Given the description of an element on the screen output the (x, y) to click on. 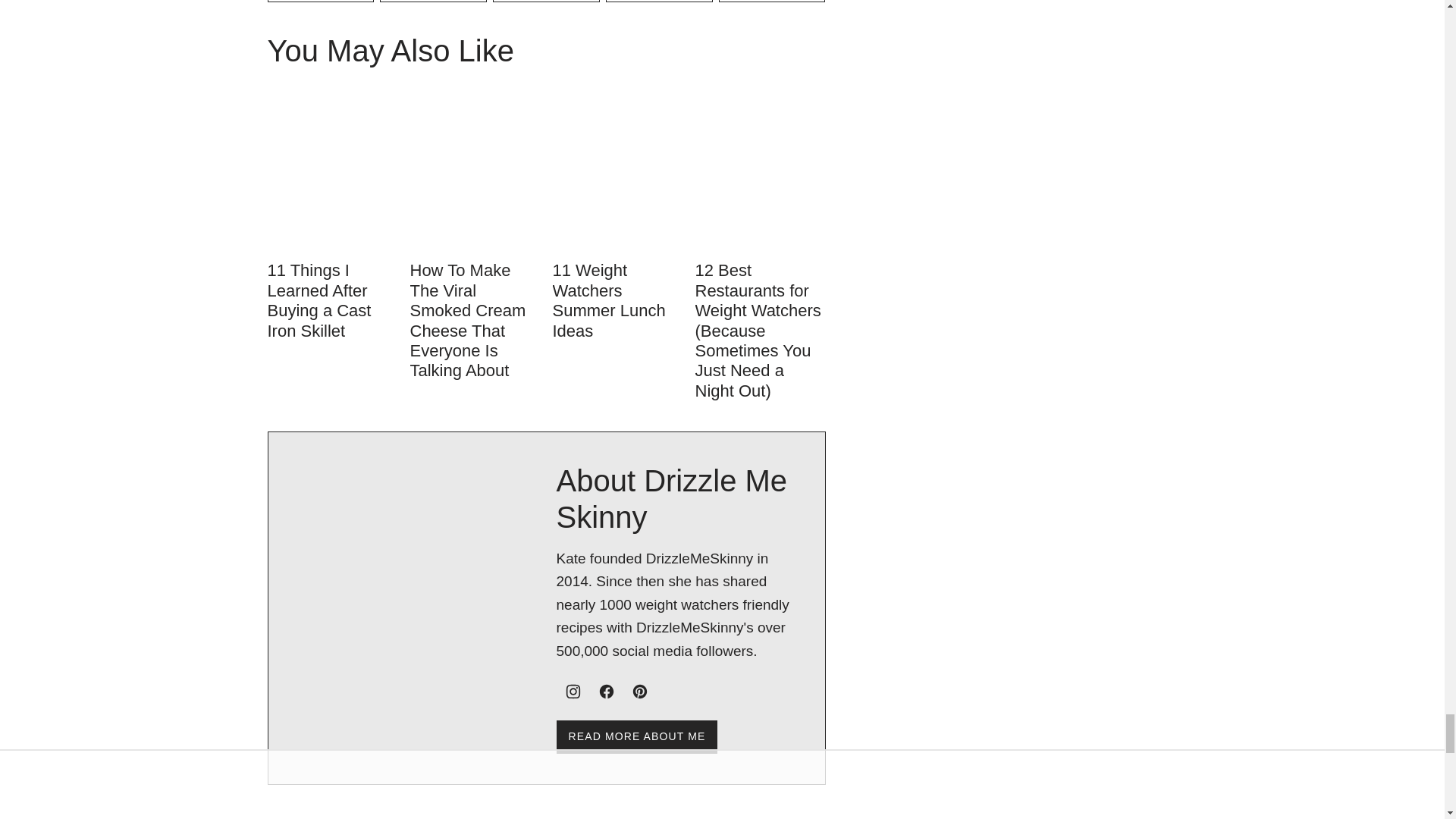
Share on Pinterest (320, 1)
Share on Yummly (659, 1)
Share via Email (772, 1)
Share on Facebook (433, 1)
Share on Twitter (546, 1)
